Given the description of an element on the screen output the (x, y) to click on. 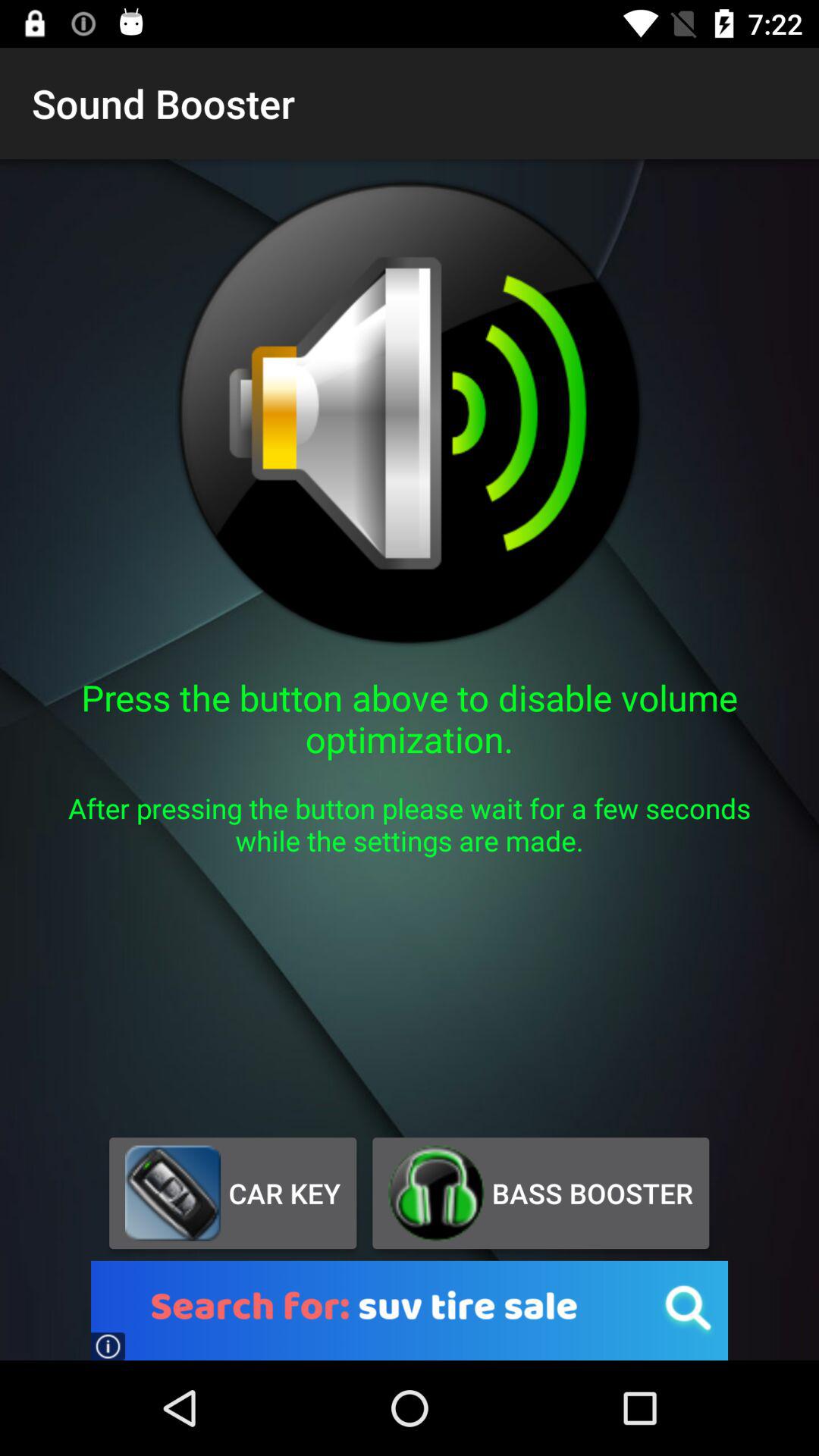
launch the button next to car key (540, 1192)
